Given the description of an element on the screen output the (x, y) to click on. 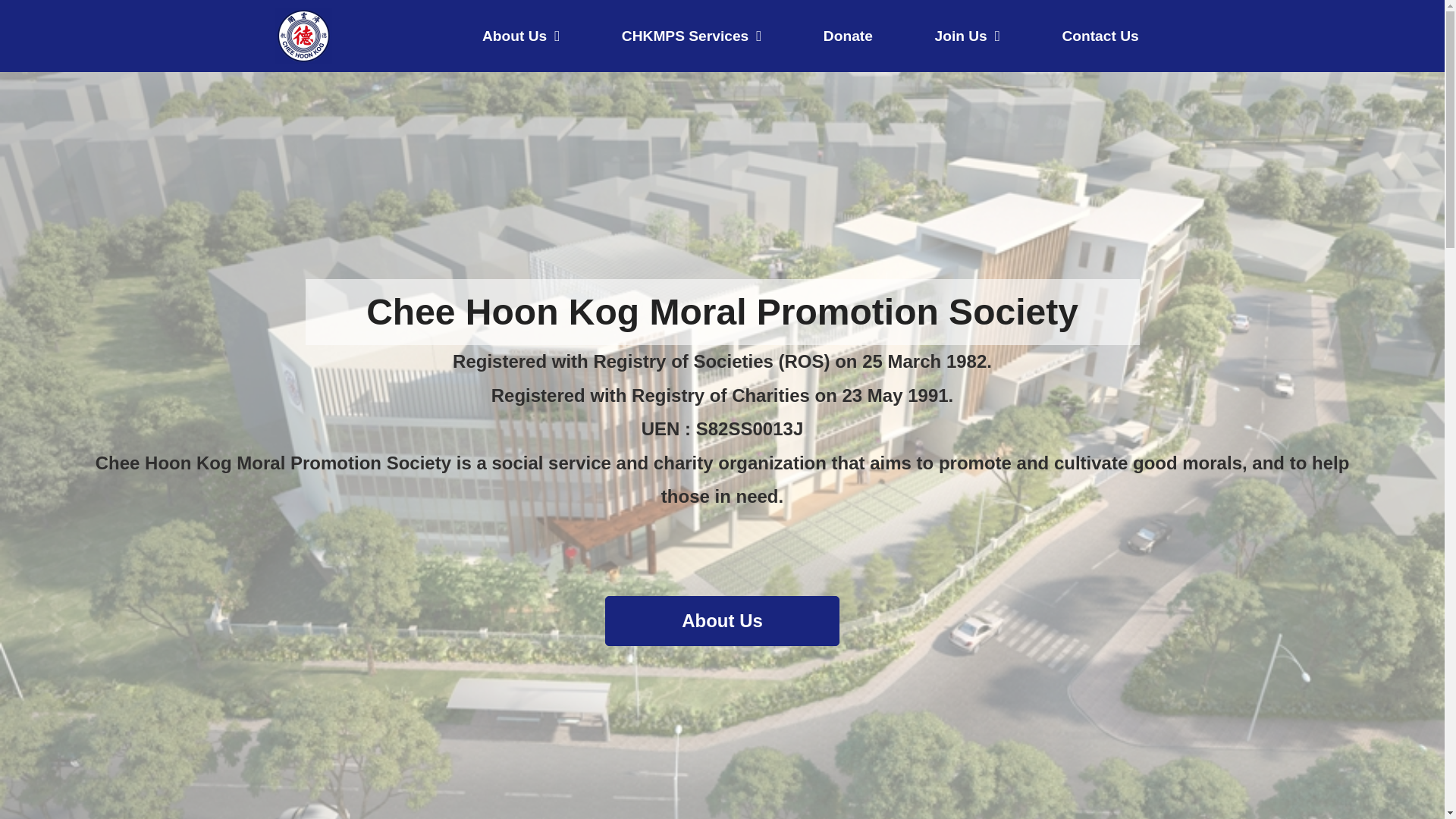
Donate (848, 35)
Contact Us (1100, 35)
About Us (521, 35)
About Us (722, 621)
CHKMPS Services (691, 35)
Join Us (967, 35)
